Given the description of an element on the screen output the (x, y) to click on. 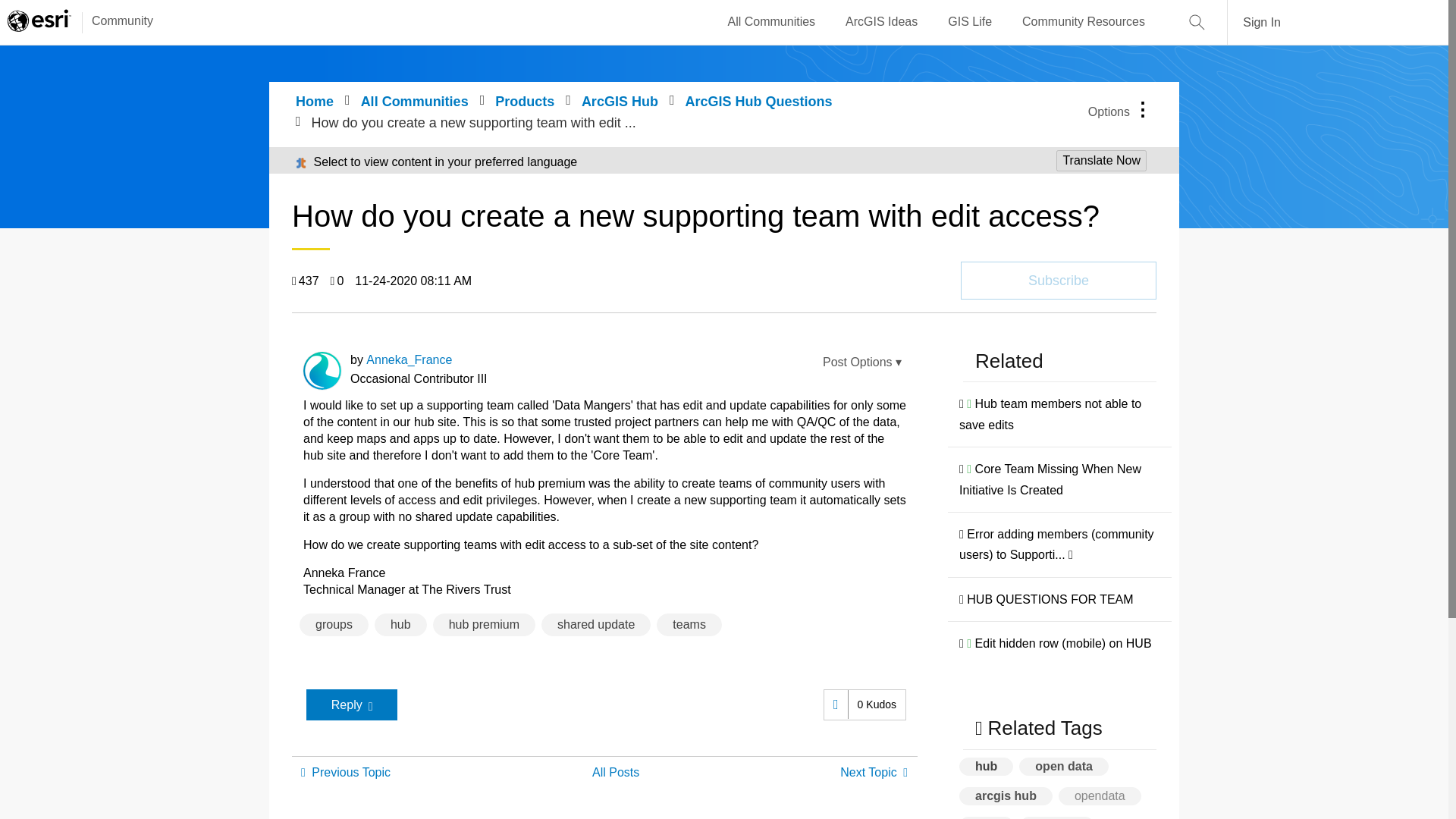
Community (114, 22)
All Communities (772, 22)
